Given the description of an element on the screen output the (x, y) to click on. 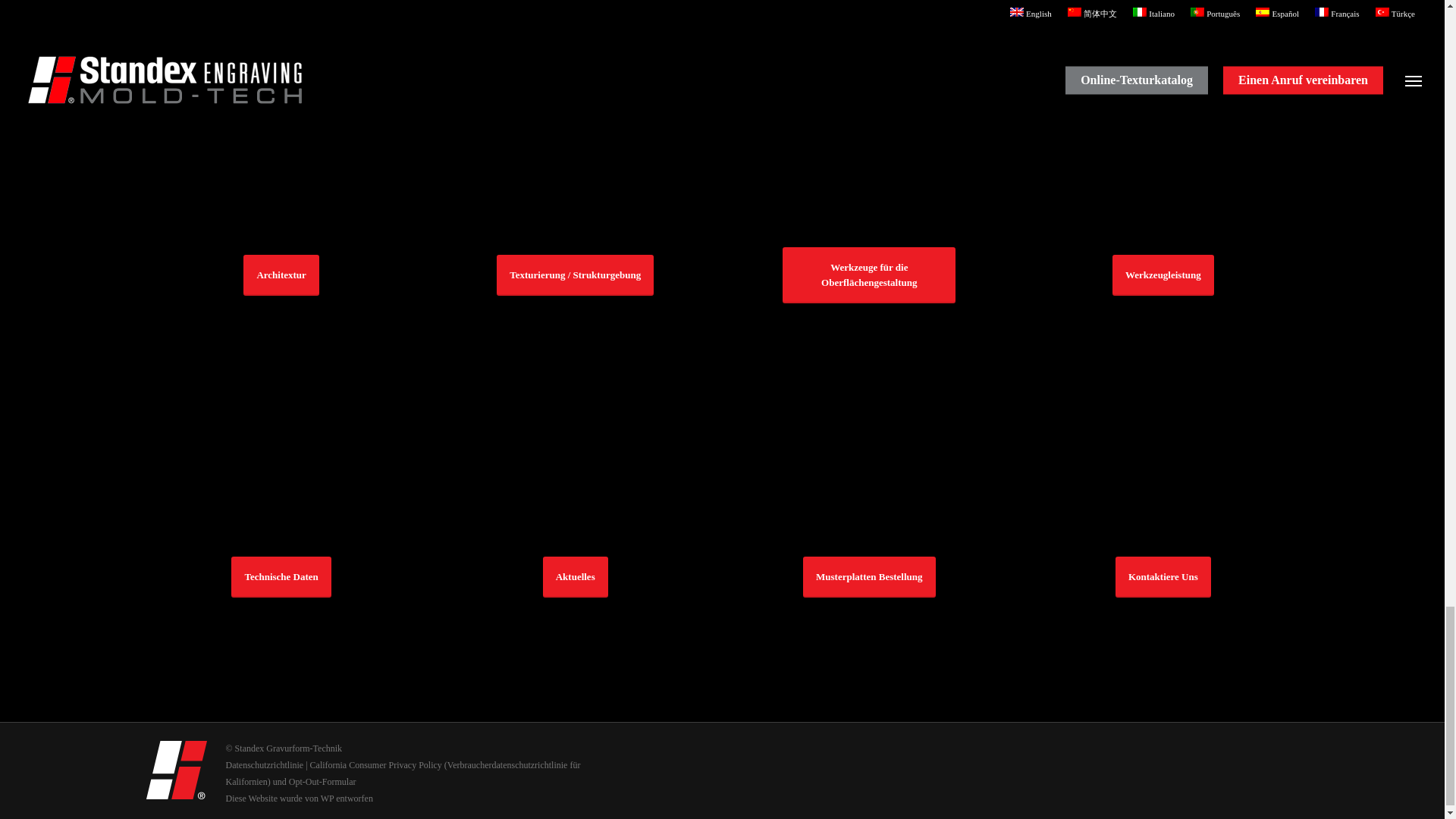
Aktuelles (575, 576)
Musterplatten Bestellung (869, 518)
Musterplatten Bestellung (868, 576)
Datenschutzrichtlinie (264, 765)
Aktuelles (575, 518)
Kontaktiere Uns (1163, 576)
Architextur (280, 274)
Architextur (281, 216)
Technische Daten (281, 518)
Technische Daten (280, 576)
WP (327, 798)
Werkzeugleistung (1163, 274)
Kontaktiere Uns (1163, 518)
Werkzeugleistung (1163, 216)
